Given the description of an element on the screen output the (x, y) to click on. 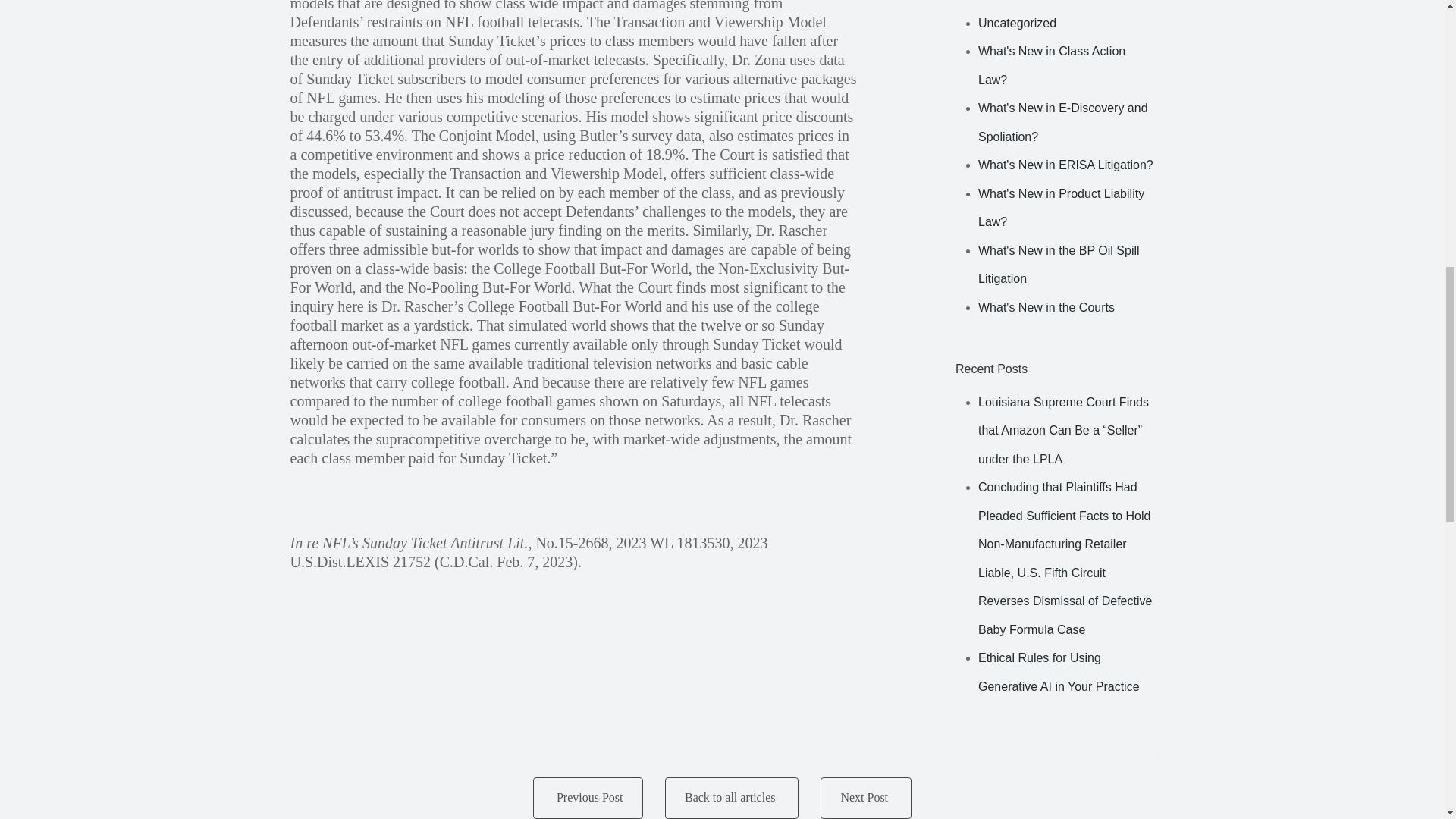
What's New in the BP Oil Spill Litigation (1059, 264)
What's New in ERISA Litigation? (1065, 164)
Uncategorized (1017, 22)
What's New in the Courts (1046, 307)
What's New in Product Liability Law? (1061, 208)
Previous Post (587, 798)
What's New in E-Discovery and Spoliation? (1063, 122)
Ethical Rules for Using Generative AI in Your Practice (1059, 671)
What's New in Class Action Law? (1051, 65)
